Given the description of an element on the screen output the (x, y) to click on. 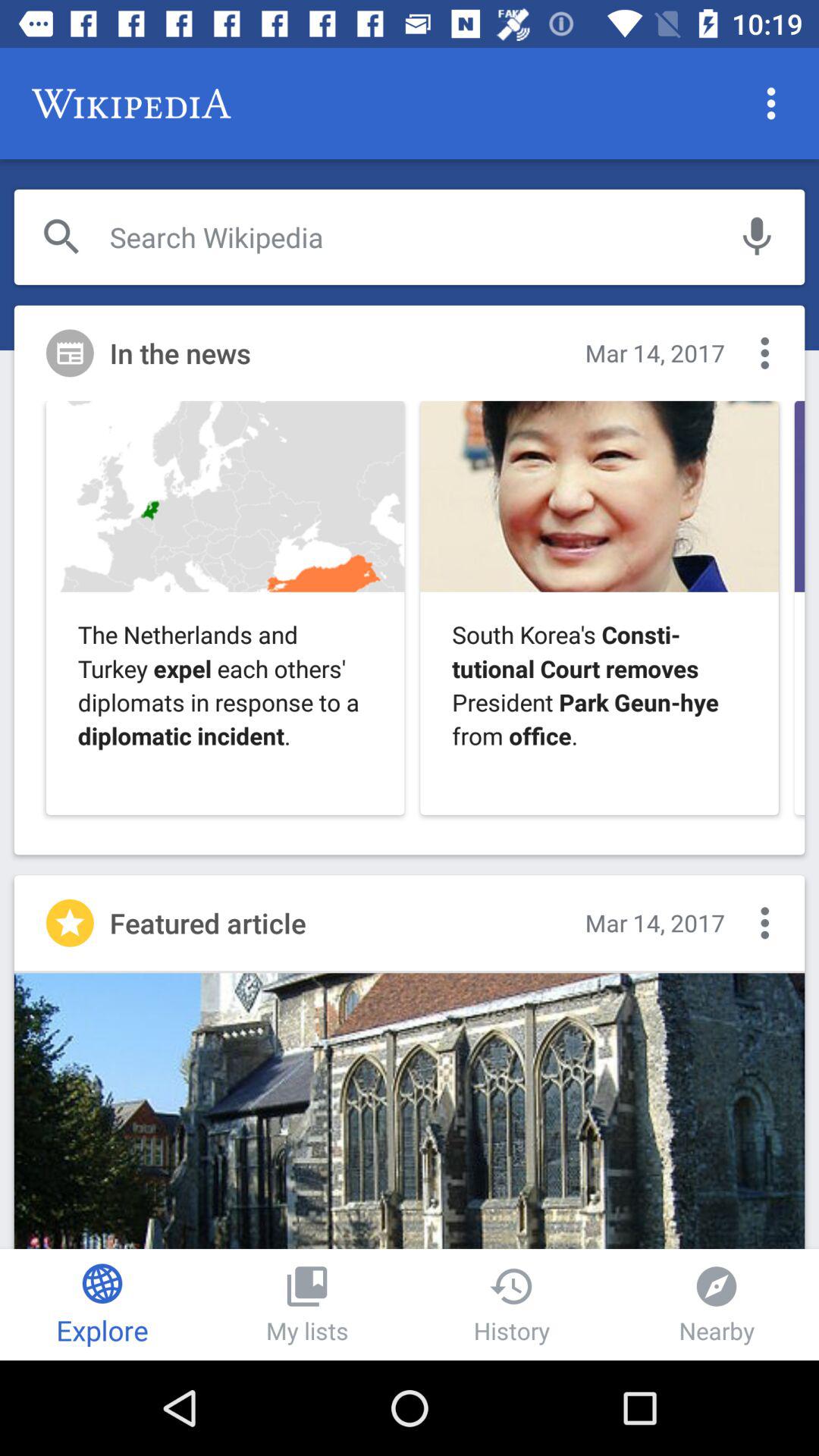
click on 3 vertical dots icon which is to the right side of the text which says featured article mar 14 2017 (764, 922)
select search icon which is below wikipedia on the page (61, 237)
click on the more icon which is at the top right (771, 103)
select the news icon which is at the left side of the page (69, 353)
